Given the description of an element on the screen output the (x, y) to click on. 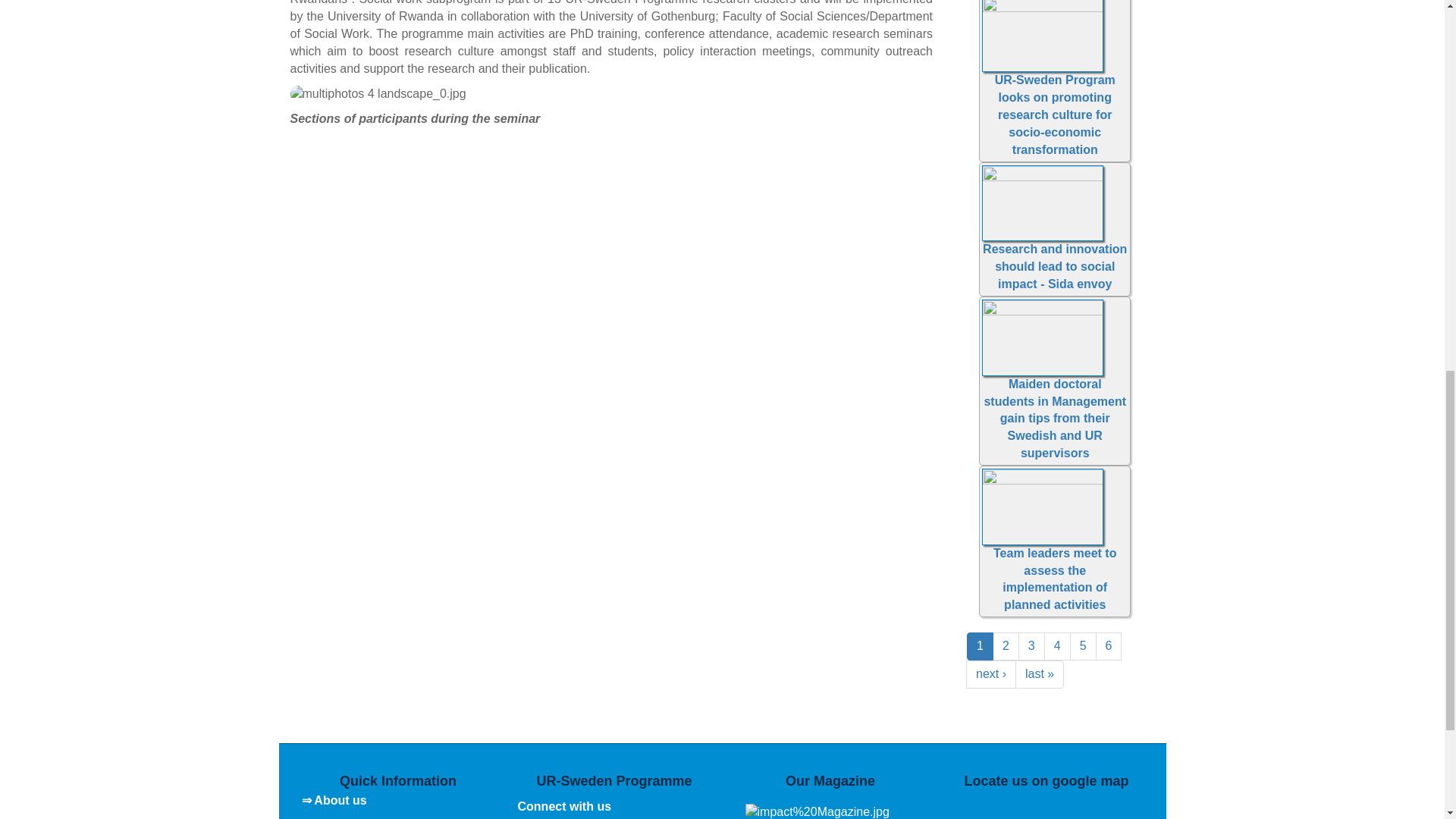
Go to page 6 (1109, 646)
Go to page 2 (1005, 646)
Go to page 5 (1083, 646)
Go to page 3 (1031, 646)
Go to page 4 (1056, 646)
